Given the description of an element on the screen output the (x, y) to click on. 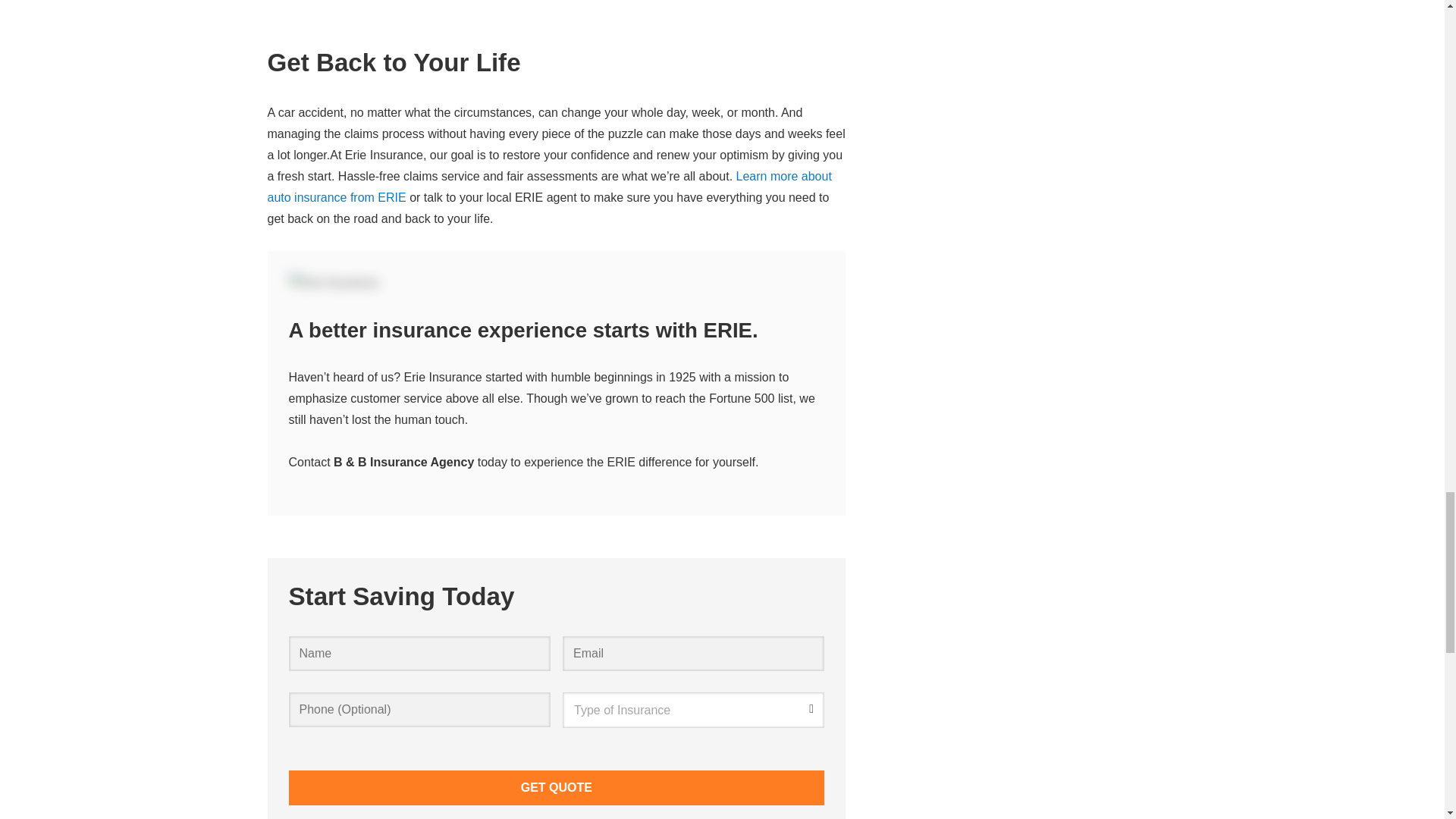
Get Quote (556, 787)
